Given the description of an element on the screen output the (x, y) to click on. 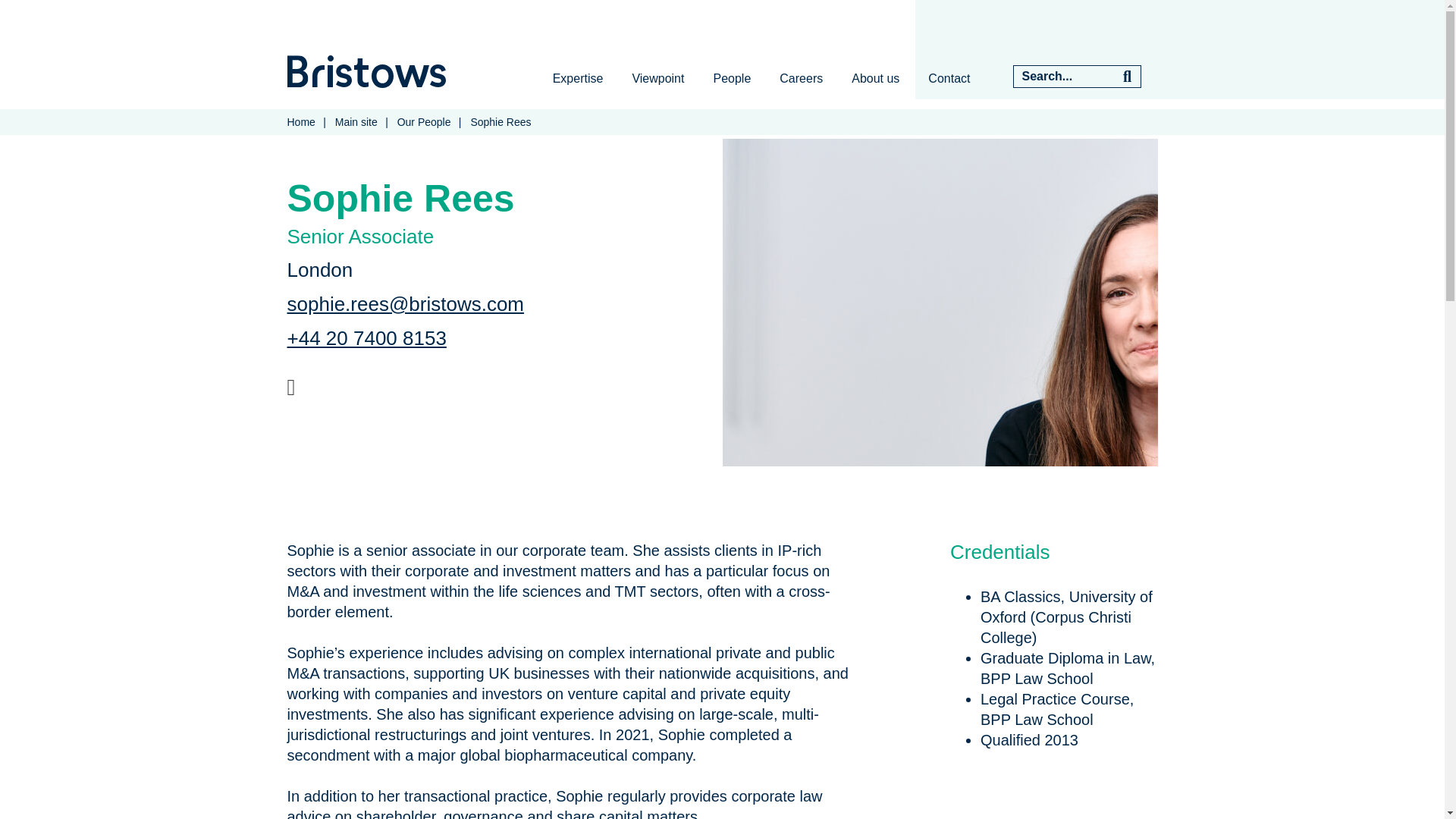
Viewpoint (657, 78)
Expertise (578, 78)
Search (1127, 76)
Search... (1063, 76)
Bristows (365, 71)
Search (1127, 76)
